Given the description of an element on the screen output the (x, y) to click on. 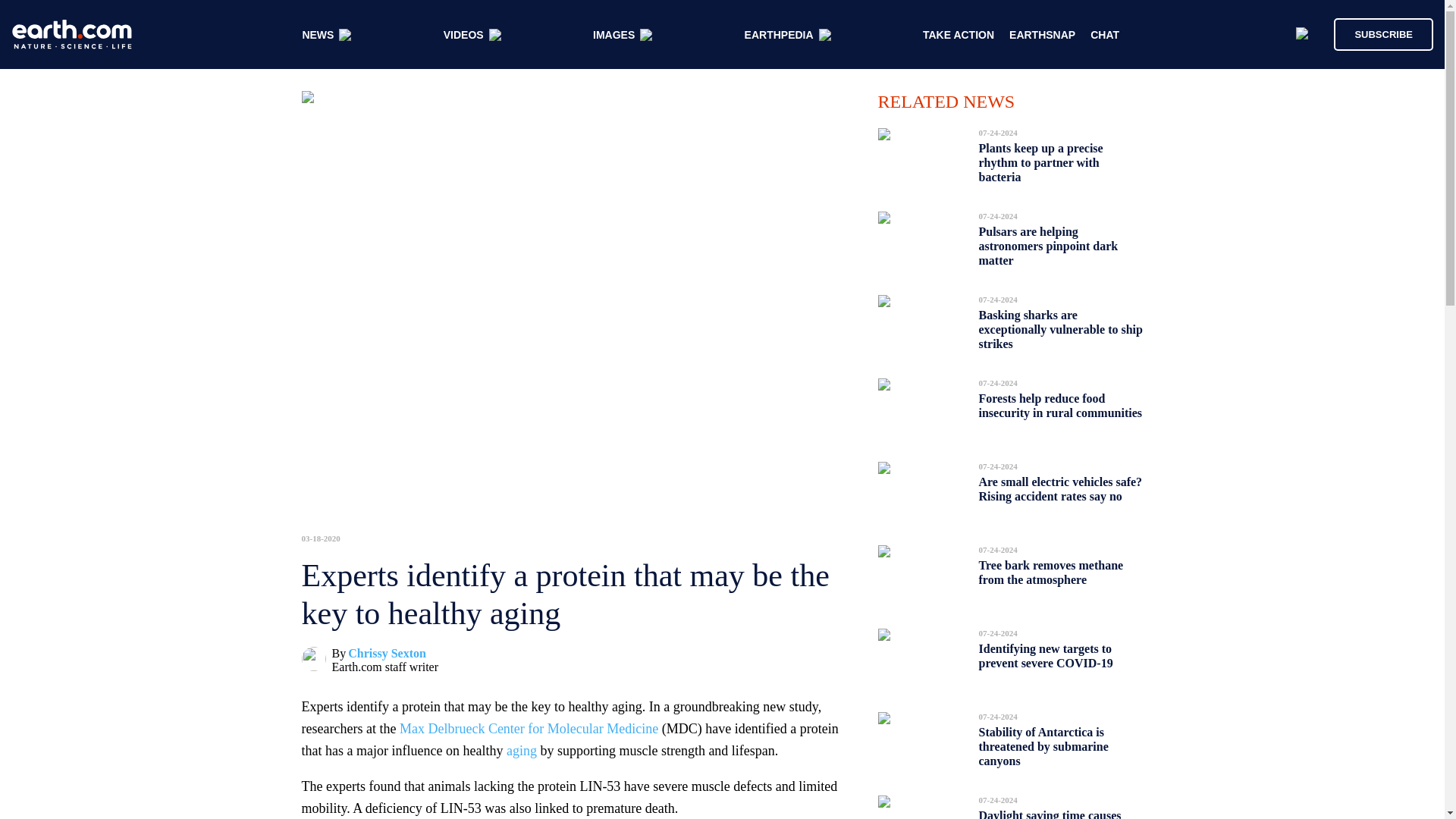
Tree bark removes methane from the atmosphere (1050, 572)
Max Delbrueck Center for Molecular Medicine (528, 728)
CHAT (1104, 34)
SUBSCRIBE (1382, 34)
Identifying new targets to prevent severe COVID-19  (1046, 655)
TAKE ACTION (958, 34)
Pulsars are helping astronomers pinpoint dark matter (1048, 245)
Stability of Antarctica is threatened by submarine canyons (1043, 746)
aging (521, 750)
Daylight saving time causes unhealthy lifestyle choices (1049, 810)
EARTHSNAP (1042, 34)
Plants keep up a precise rhythm to partner with bacteria (1040, 162)
Basking sharks are exceptionally vulnerable to ship strikes (1059, 329)
Chrissy Sexton (386, 653)
